Given the description of an element on the screen output the (x, y) to click on. 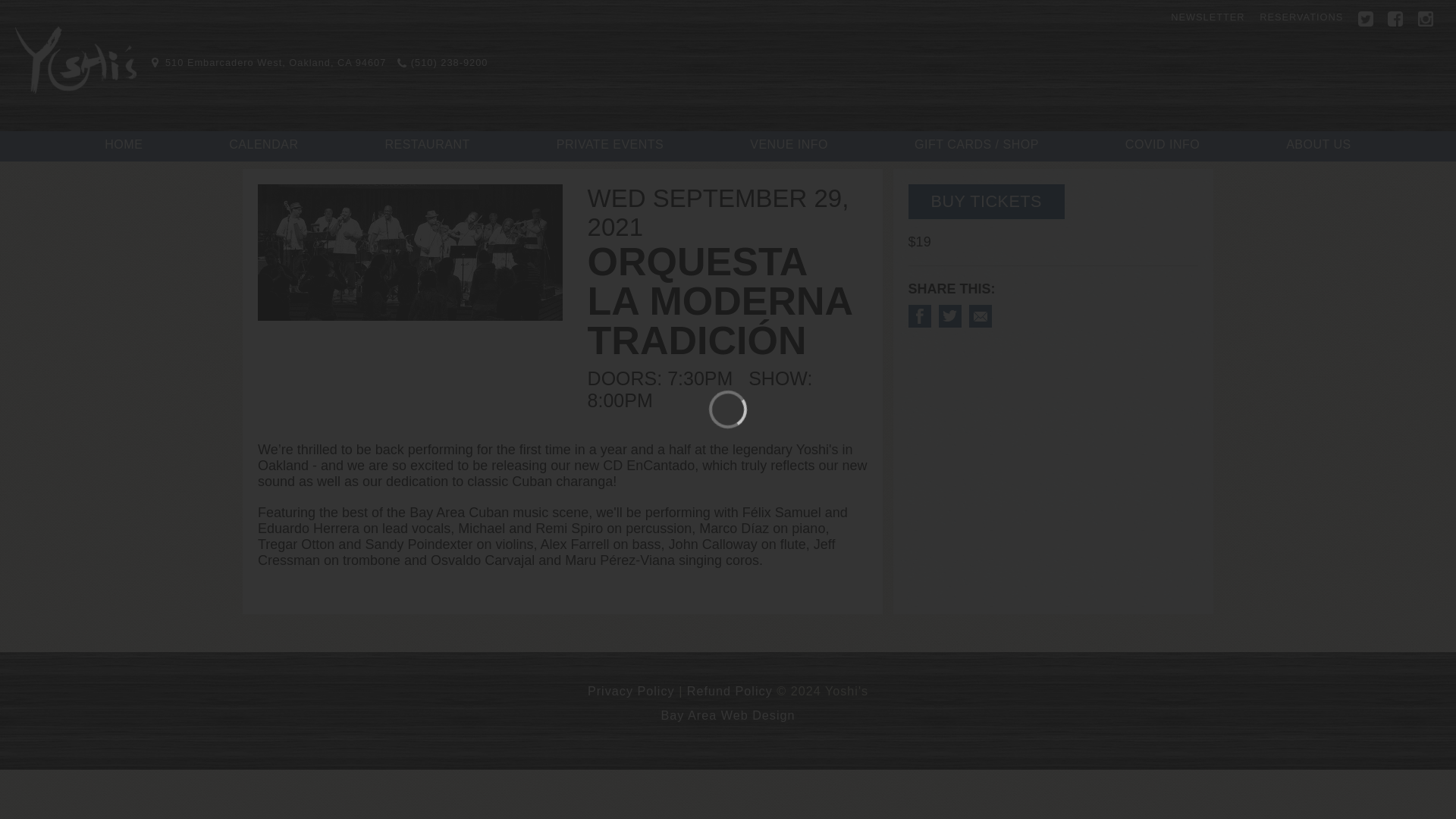
ABOUT US (1318, 144)
510 Embarcadero West, Oakland, CA 94607 (268, 61)
VENUE INFO (788, 144)
BUY TICKETS (986, 201)
NEWSLETTER (1207, 16)
COVID INFO (1162, 144)
RESTAURANT (426, 144)
Bay Area Web Design (727, 714)
CALENDAR (263, 144)
PRIVATE EVENTS (609, 144)
